Given the description of an element on the screen output the (x, y) to click on. 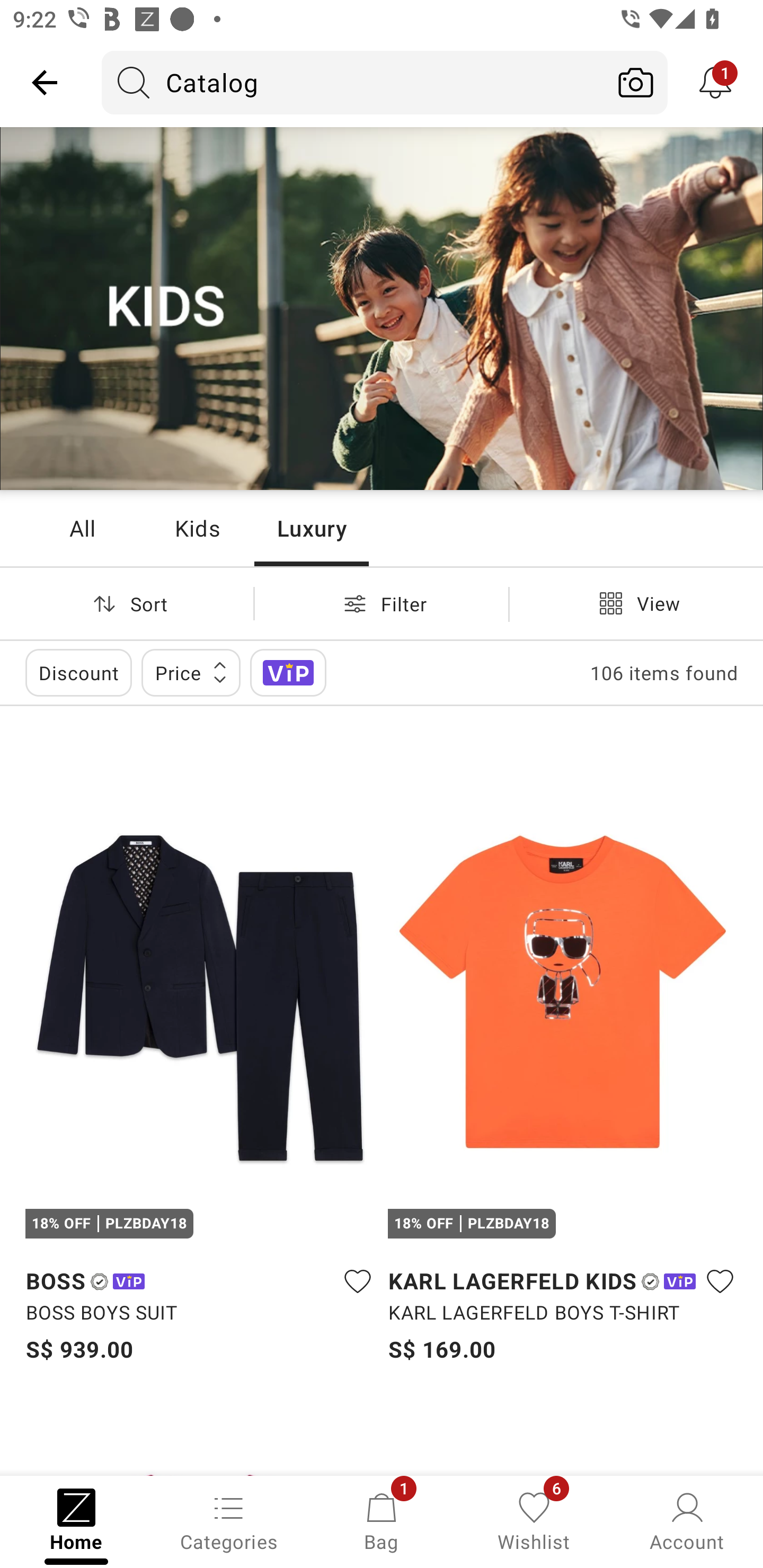
Navigate up (44, 82)
Catalog (352, 82)
All (82, 527)
Kids (196, 527)
Sort (126, 603)
Filter (381, 603)
View (636, 603)
Discount (78, 672)
Price (190, 672)
Categories (228, 1519)
Bag, 1 new notification Bag (381, 1519)
Wishlist, 6 new notifications Wishlist (533, 1519)
Account (686, 1519)
